Given the description of an element on the screen output the (x, y) to click on. 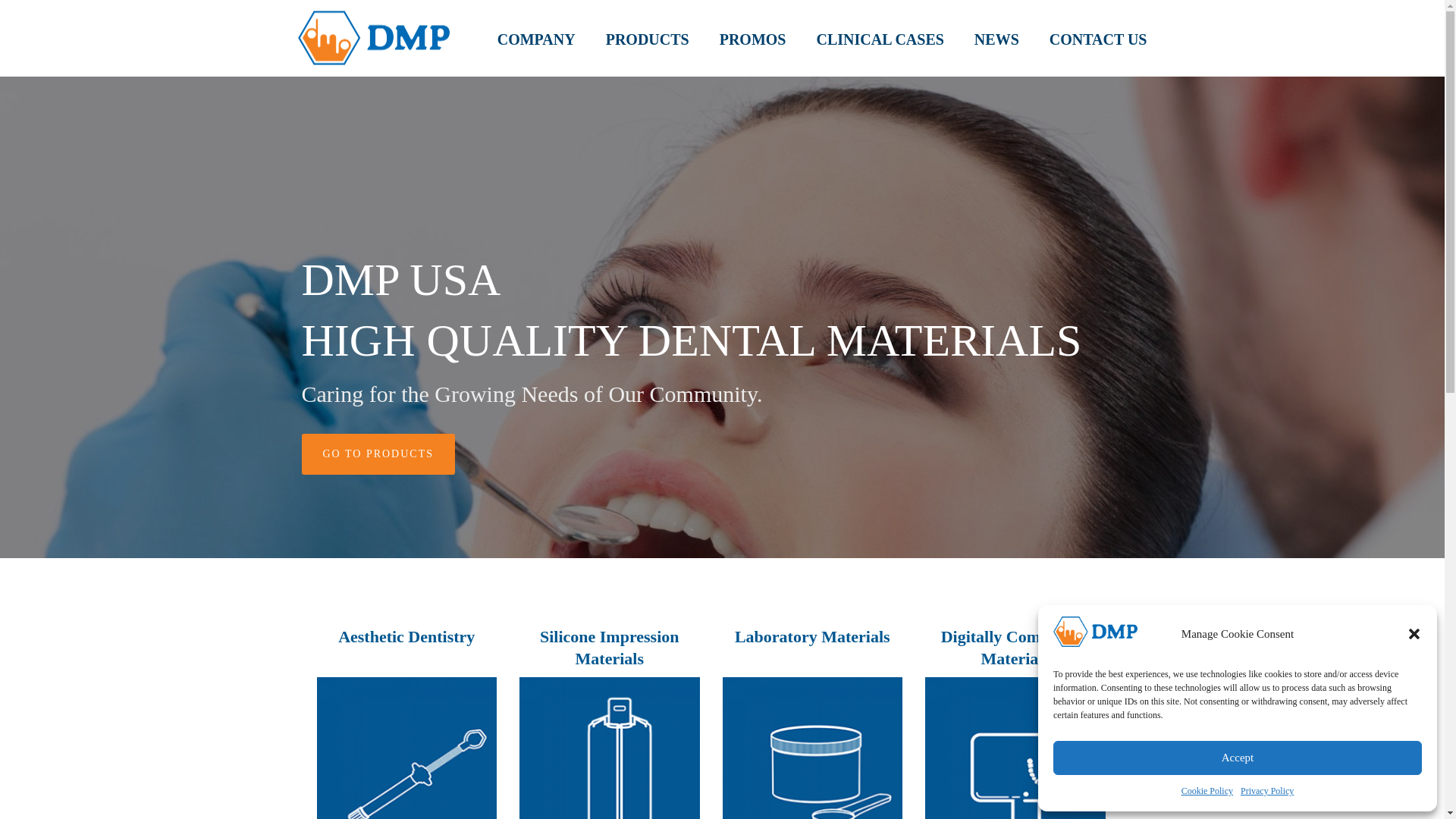
PRODUCTS (647, 38)
Privacy Policy (1267, 791)
GO TO PRODUCTS (378, 454)
NEWS (996, 38)
CLINICAL CASES (879, 38)
CONTACT US (1097, 38)
PRODUCTS (647, 38)
CLINICAL CASES (879, 38)
COMPANY (536, 38)
CONTACT US (1097, 38)
